Given the description of an element on the screen output the (x, y) to click on. 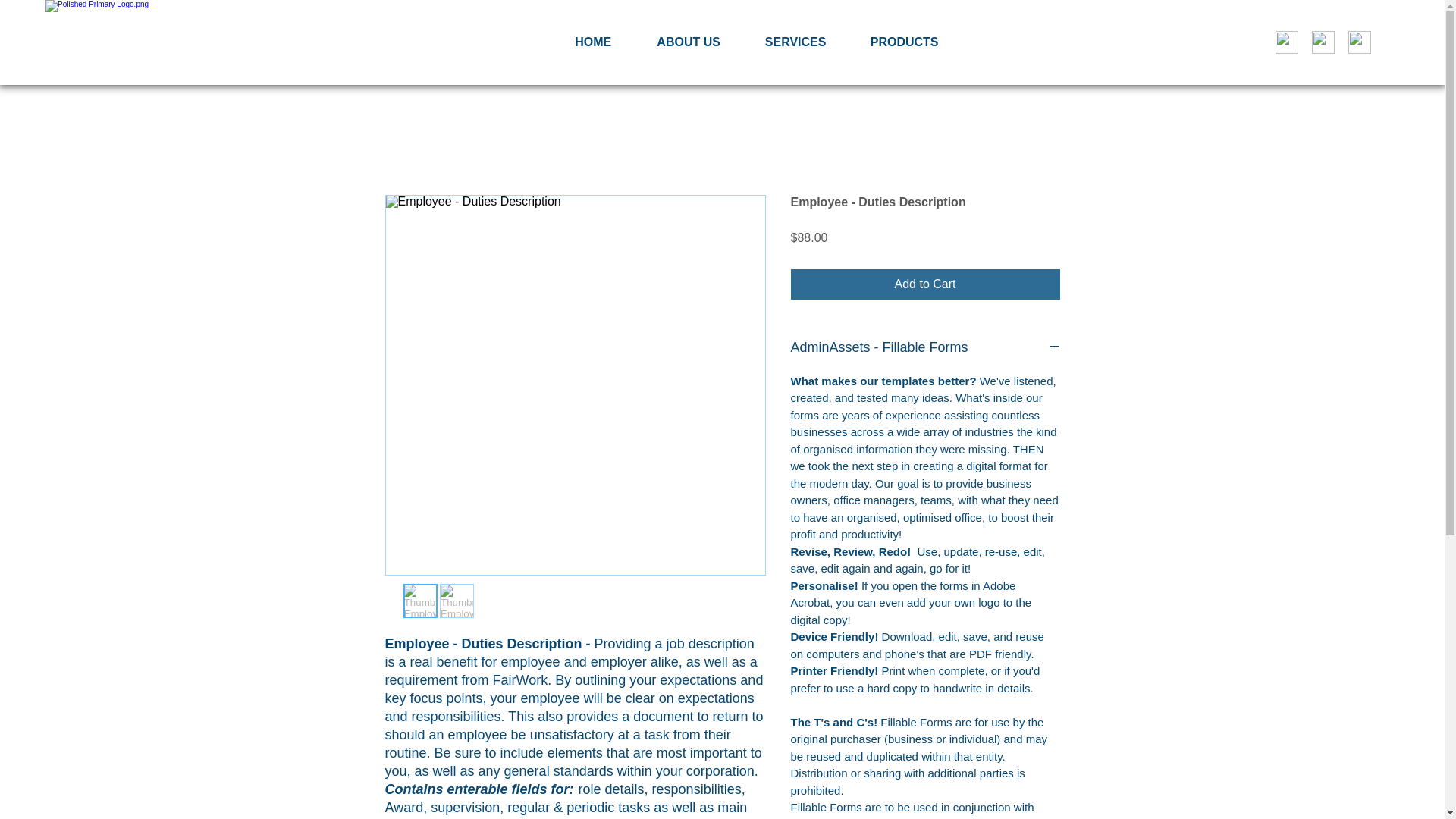
AdminAssets - Fillable Forms (924, 347)
ABOUT US (688, 42)
HOME (592, 42)
Call Now (1286, 42)
PRODUCTS (904, 42)
Add to Cart (924, 284)
Email Now (1323, 42)
SERVICES (795, 42)
Shop Now (1359, 42)
